Given the description of an element on the screen output the (x, y) to click on. 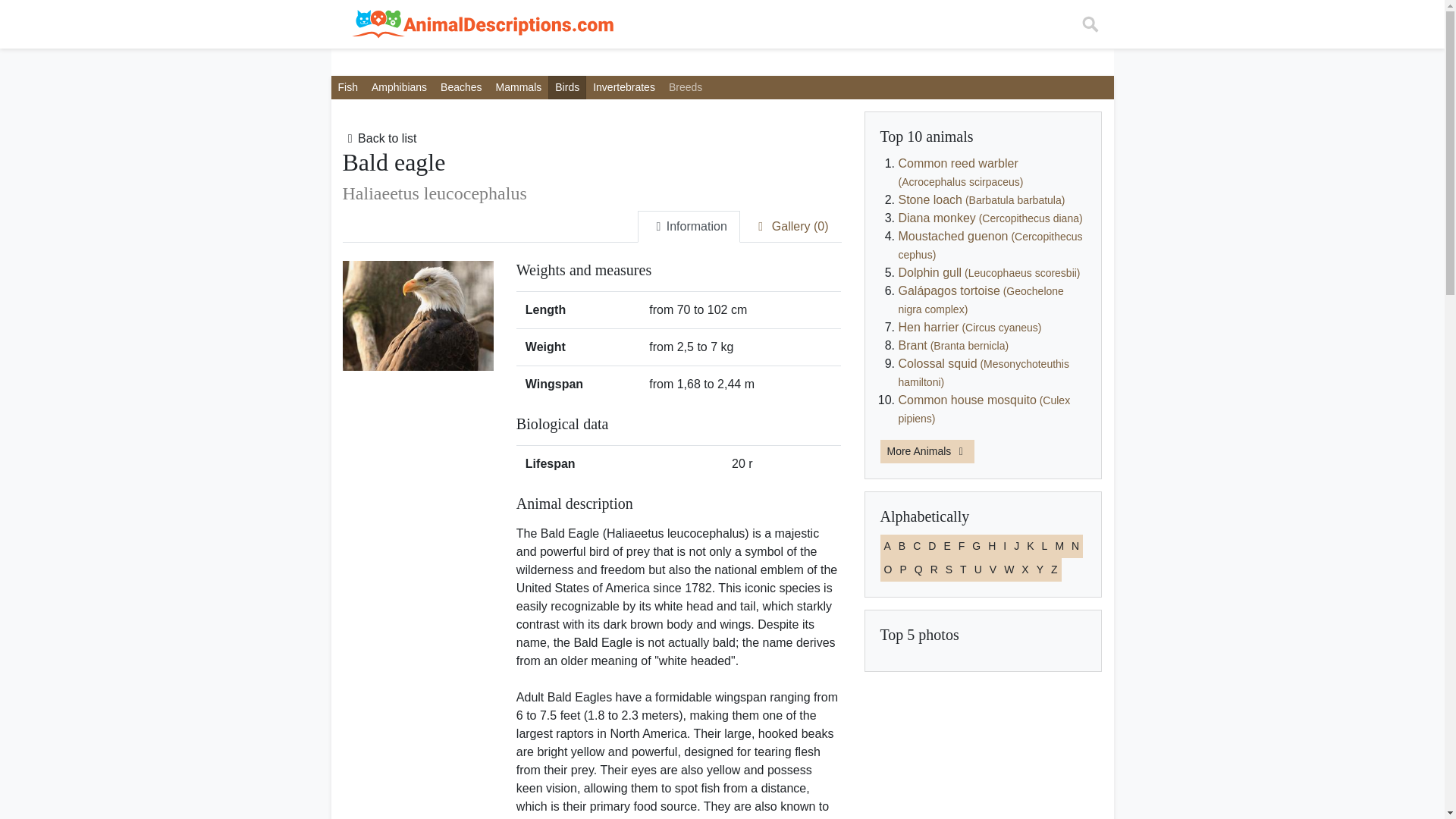
Invertebrates (624, 87)
Breeds (685, 87)
Beaches (460, 87)
More Animals (926, 451)
Fish (347, 87)
Mammals (518, 87)
Information (688, 226)
Birds (567, 87)
Back to list (379, 137)
Amphibians (399, 87)
